Given the description of an element on the screen output the (x, y) to click on. 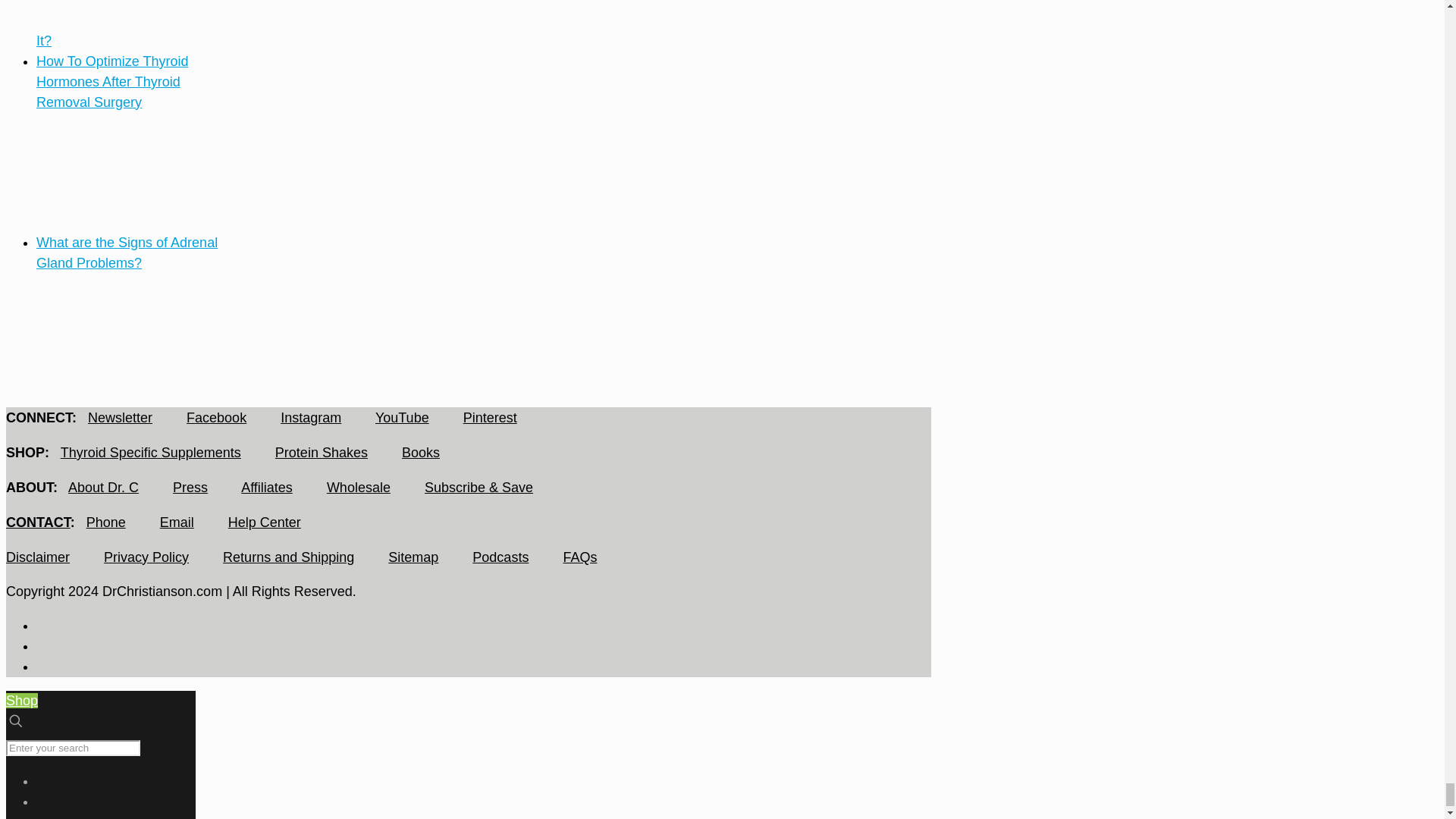
Thyroid Medication: When Is It Necessary, and When Isn't It? (107, 40)
What are the Signs of Adrenal Gland Problems? (92, 382)
